Given the description of an element on the screen output the (x, y) to click on. 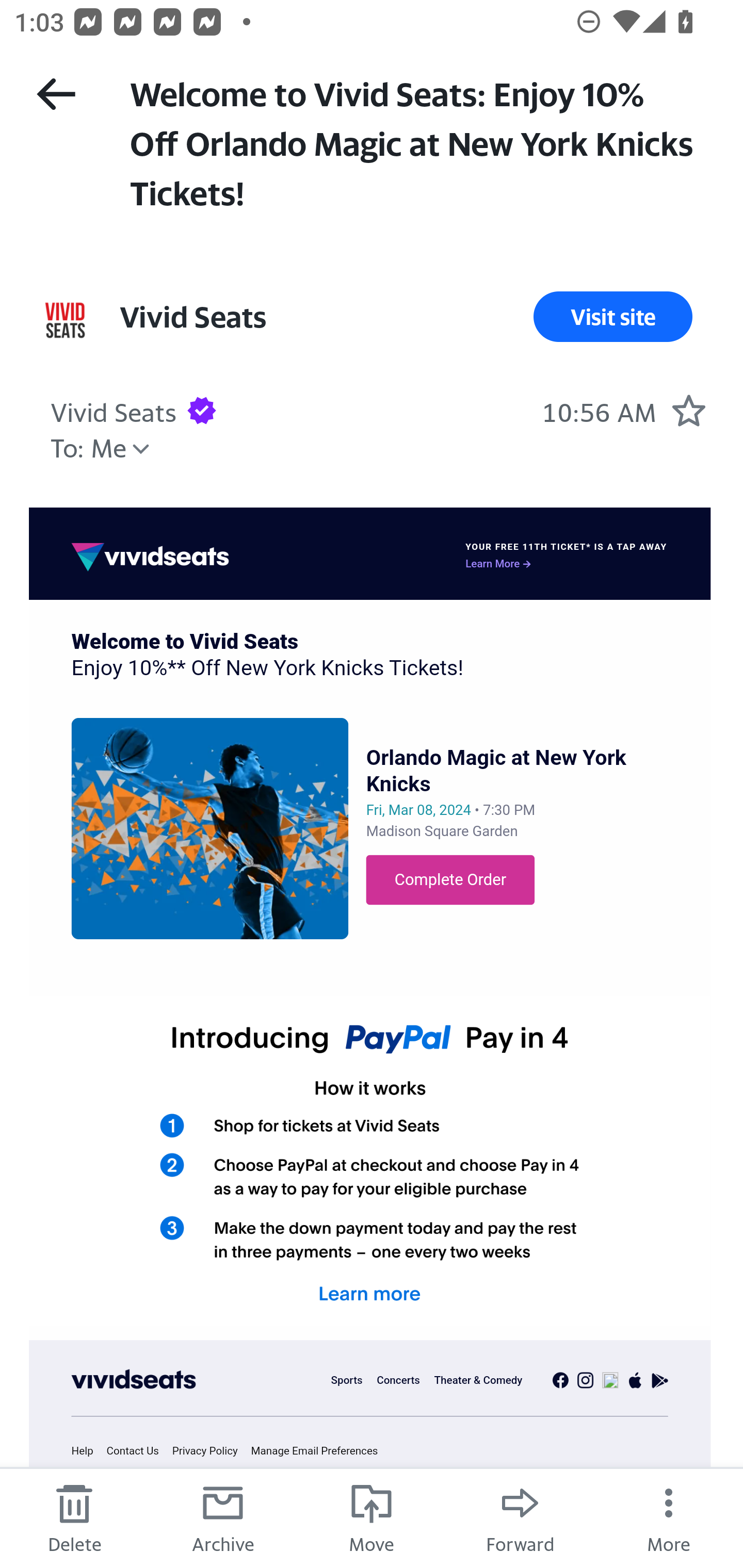
Back (55, 93)
View all messages from sender (64, 320)
Visit site Visit Site Link (612, 316)
Vivid Seats Sender Vivid Seats (191, 316)
Vivid Seats Sender Vivid Seats (113, 410)
Mark as starred. (688, 410)
New York Knicks (210, 827)
Orlando Magic at New York Knicks (496, 770)
Complete Order (449, 880)
facebook (560, 1380)
instagram (585, 1380)
twitter (609, 1380)
iPhone (635, 1380)
Android (659, 1380)
Sports (346, 1379)
Concerts (397, 1379)
Theater & Comedy (477, 1379)
Help (87, 1451)
Contact Us (137, 1451)
Privacy Policy (209, 1451)
Manage Email Preferences (320, 1451)
Delete (74, 1517)
Archive (222, 1517)
Move (371, 1517)
Forward (519, 1517)
More (668, 1517)
